Given the description of an element on the screen output the (x, y) to click on. 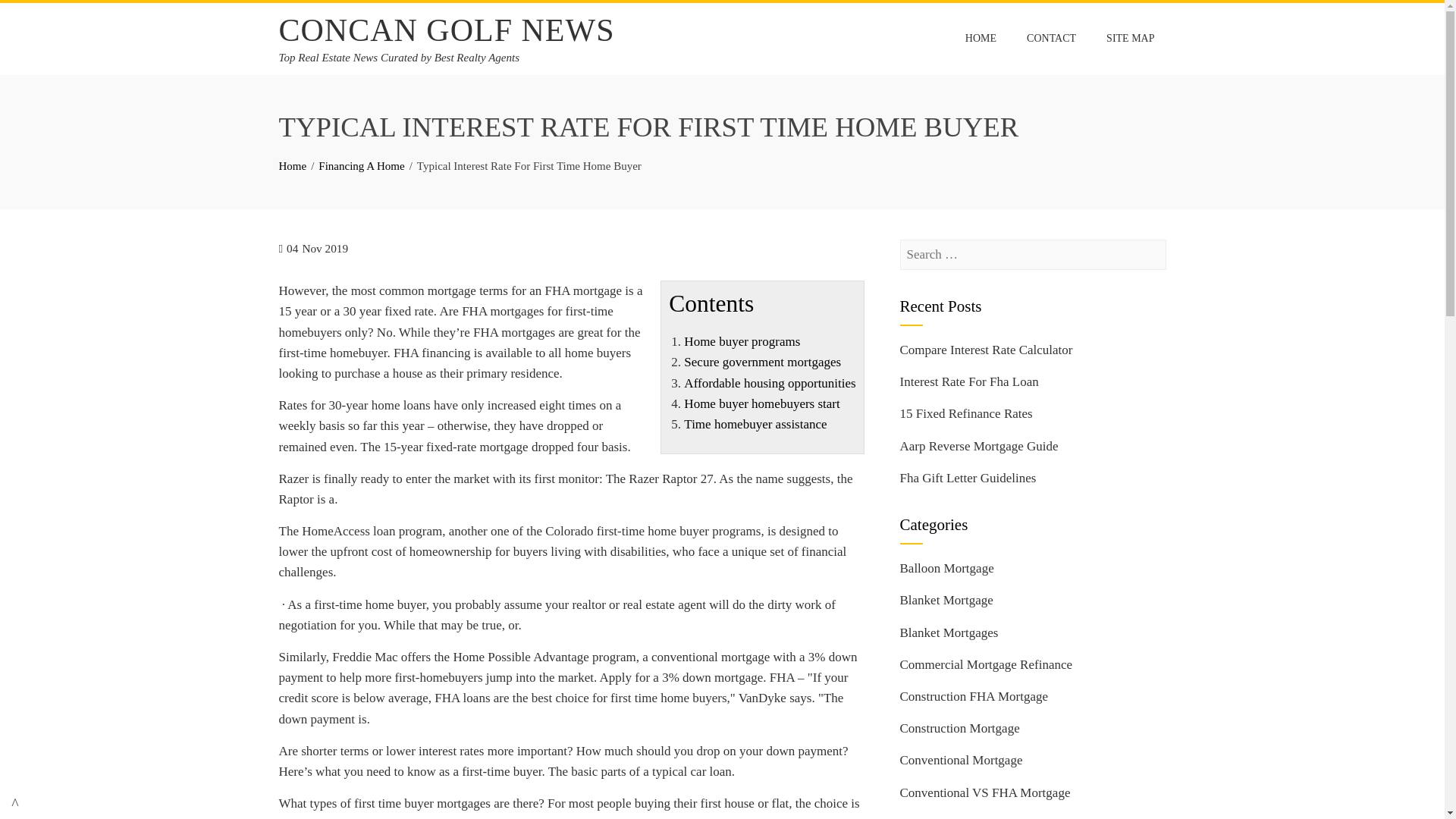
FHA 203k Mortgage (953, 818)
Affordable housing opportunities (770, 382)
Balloon Mortgage (945, 568)
CONTACT (1050, 38)
Time homebuyer assistance (755, 423)
Blanket Mortgages (948, 632)
15 Fixed Refinance Rates (965, 413)
Search (32, 15)
Secure government mortgages (762, 361)
Construction FHA Mortgage (973, 696)
Financing A Home (361, 165)
Aarp Reverse Mortgage Guide (978, 445)
Home (293, 165)
Compare Interest Rate Calculator (985, 350)
Construction Mortgage (959, 728)
